Given the description of an element on the screen output the (x, y) to click on. 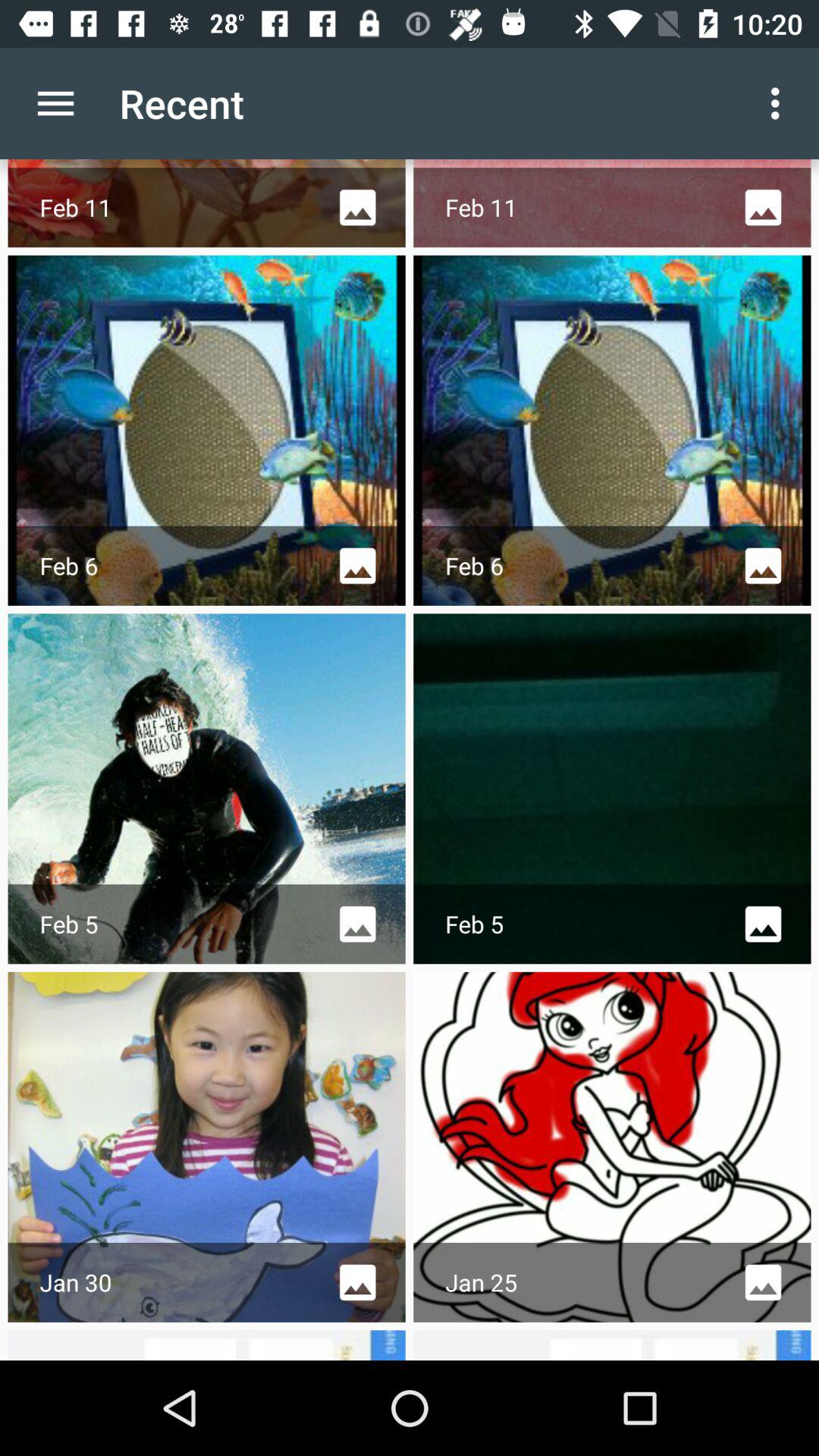
choose icon next to recent (55, 103)
